Given the description of an element on the screen output the (x, y) to click on. 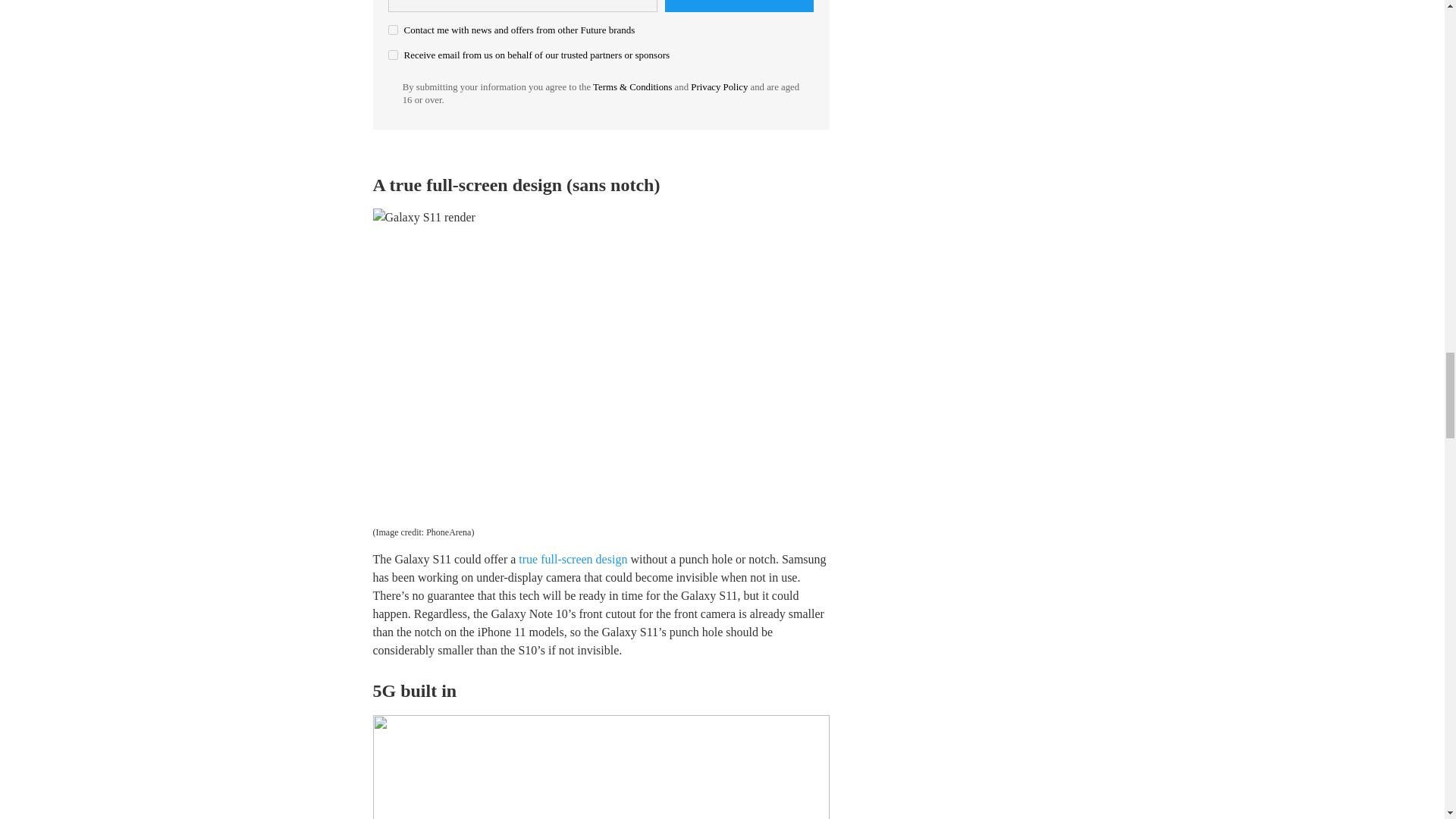
Sign me up (739, 6)
on (392, 30)
on (392, 54)
